Given the description of an element on the screen output the (x, y) to click on. 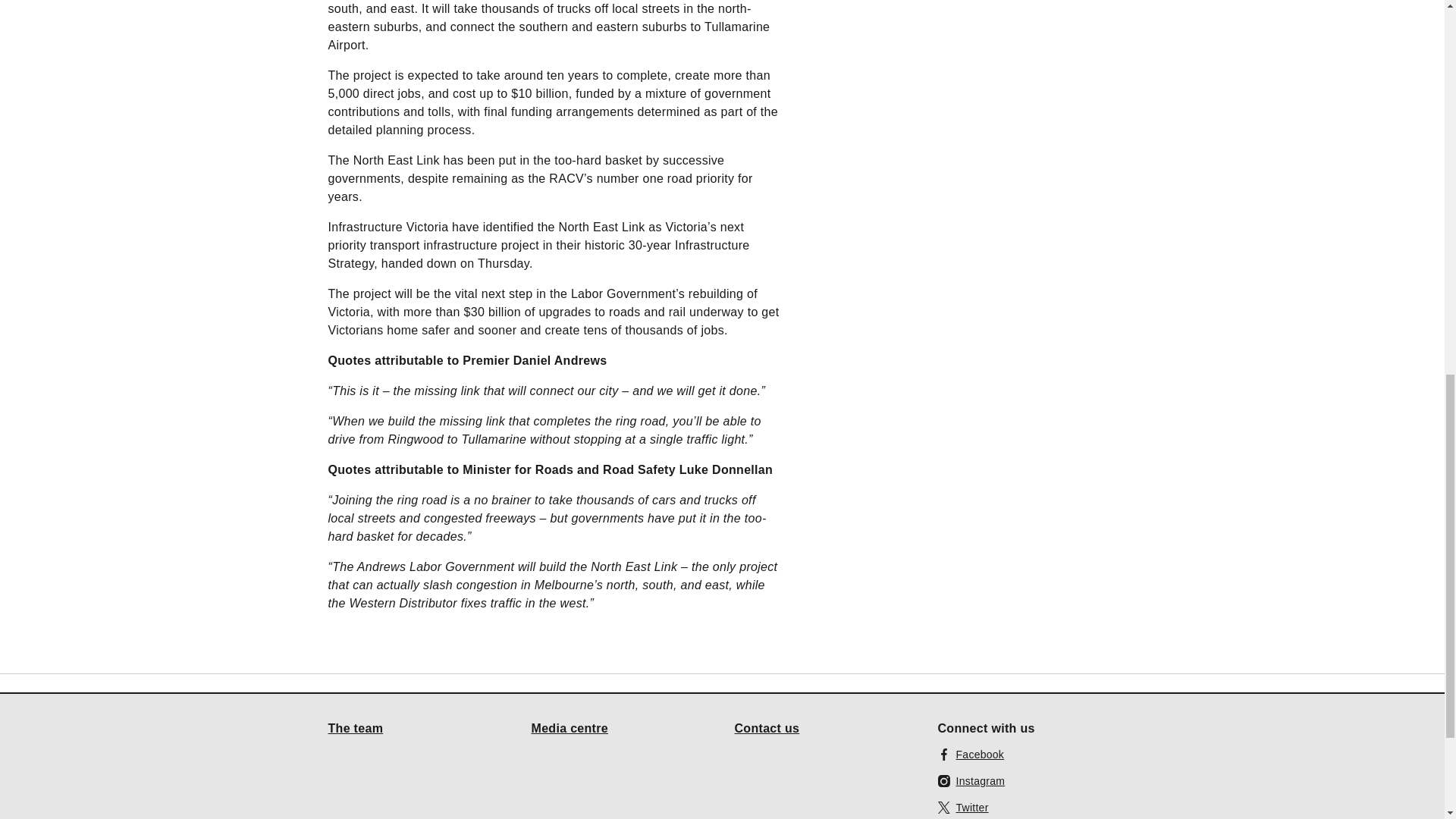
Twitter (962, 806)
The team (354, 727)
Instagram (970, 780)
Media centre (569, 727)
Contact us (766, 727)
Facebook (970, 753)
